Given the description of an element on the screen output the (x, y) to click on. 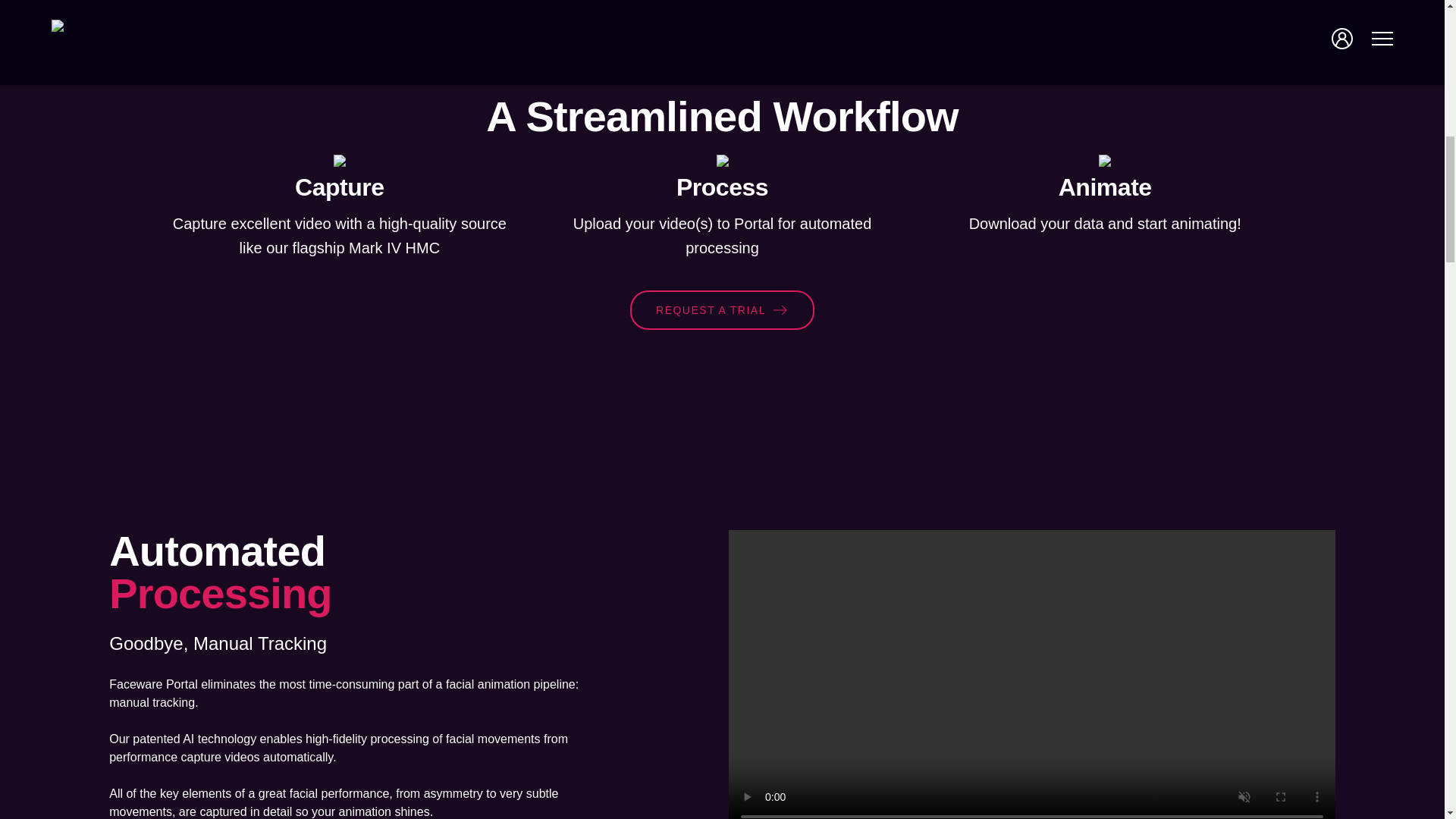
REQUEST A TRIAL (721, 310)
